Given the description of an element on the screen output the (x, y) to click on. 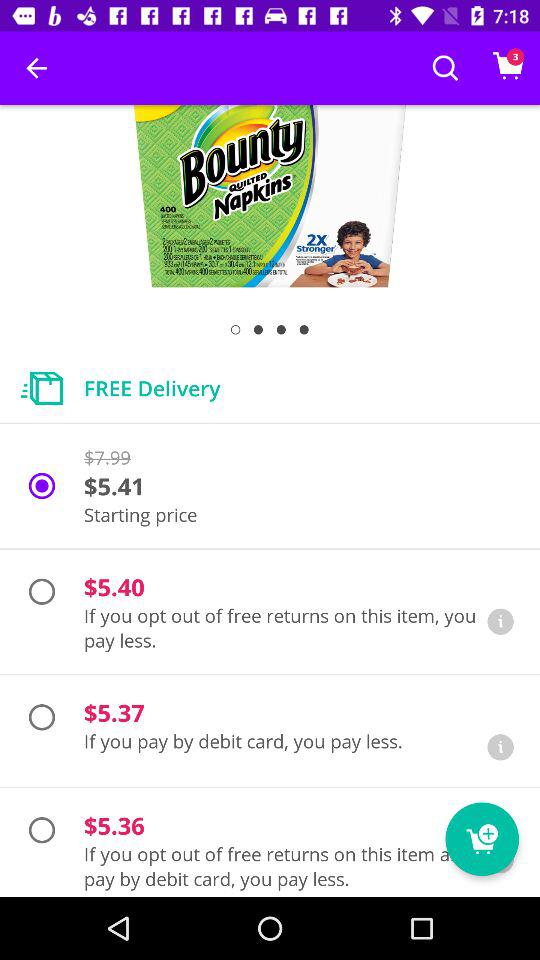
additional note available button (500, 621)
